Given the description of an element on the screen output the (x, y) to click on. 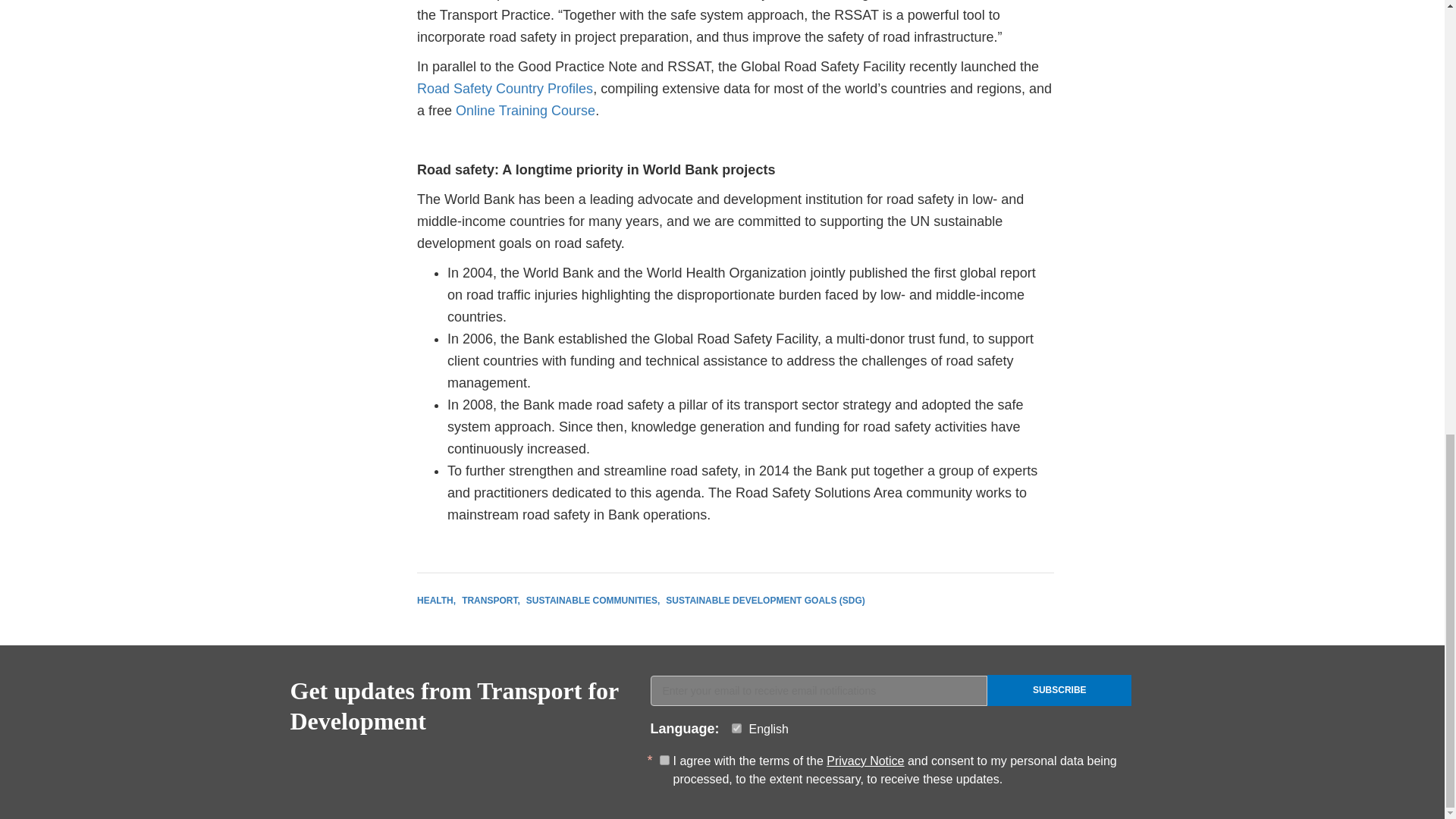
SUSTAINABLE COMMUNITIES (592, 600)
Road Safety Country Profiles (504, 88)
Online Training Course (525, 110)
1 (664, 759)
TRANSPORT (490, 600)
HEALTH (435, 600)
SUBSCRIBE (1059, 689)
en (736, 728)
Privacy Notice (865, 760)
